Given the description of an element on the screen output the (x, y) to click on. 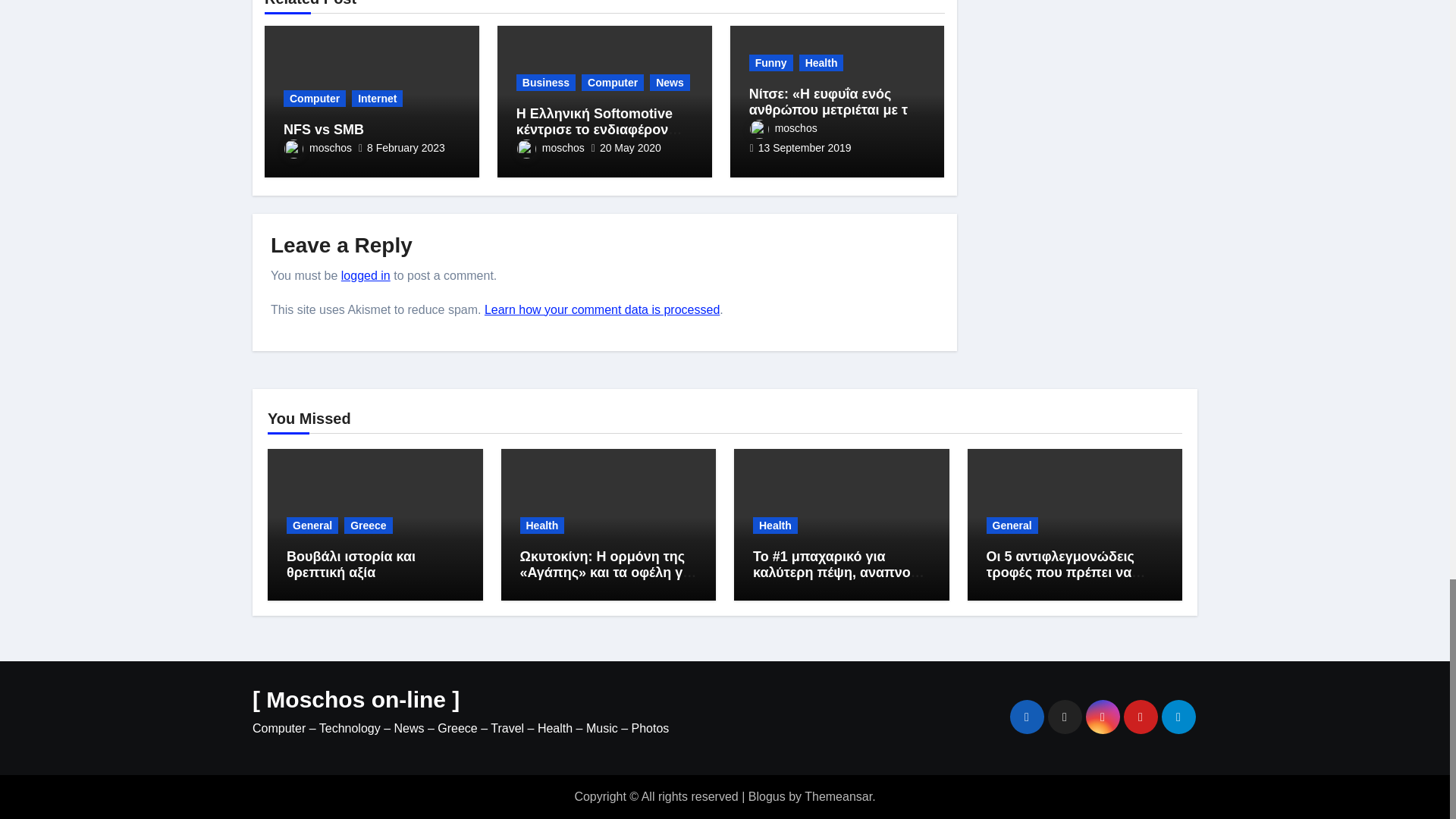
Permalink to: NFS vs SMB (323, 129)
